Given the description of an element on the screen output the (x, y) to click on. 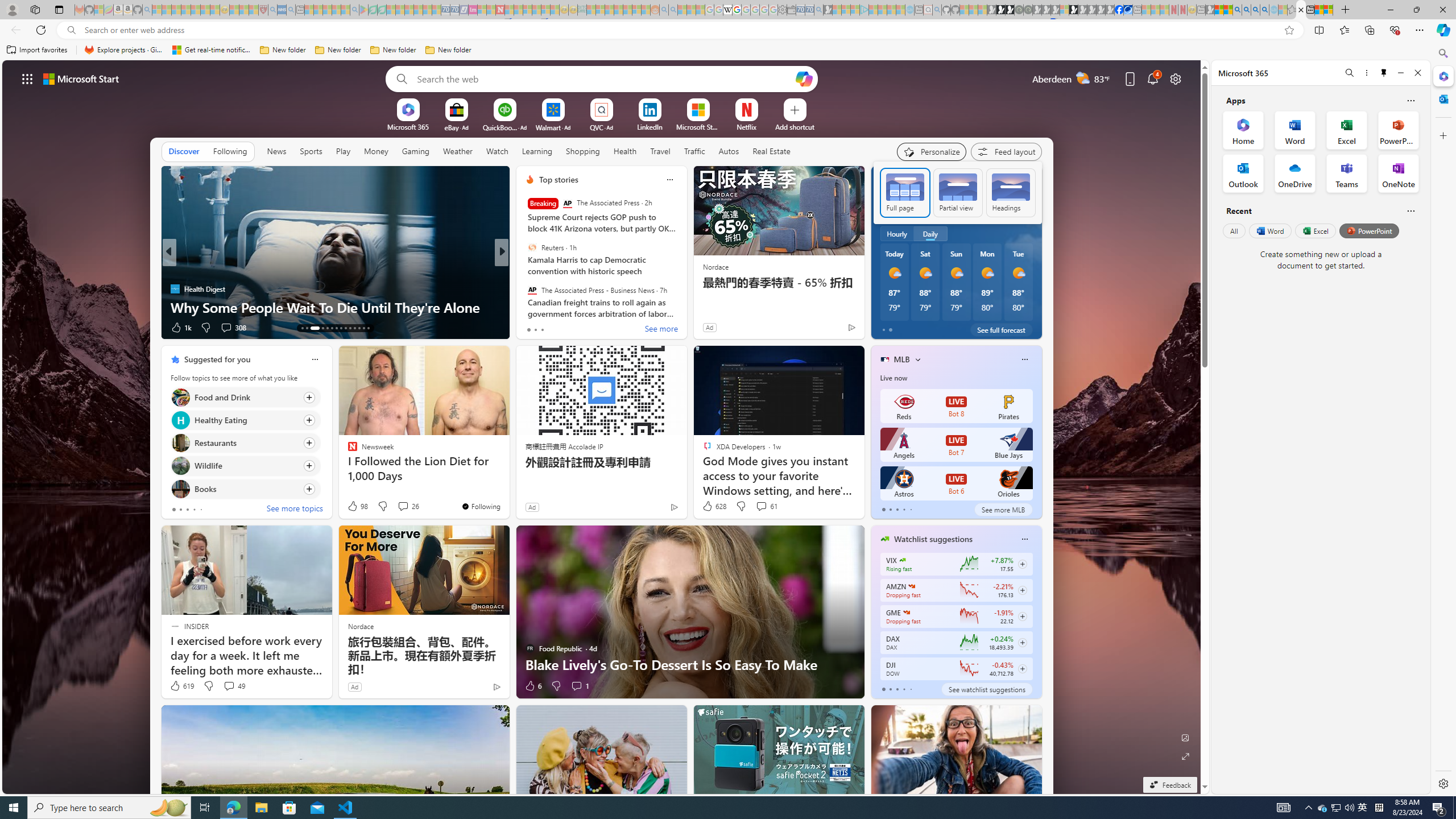
Microsoft-Report a Concern to Bing - Sleeping (98, 9)
Play (342, 151)
View comments 31 Comment (585, 327)
2009 Bing officially replaced Live Search on June 3 - Search (1246, 9)
Click to follow topic Restaurants (245, 442)
View comments 2 Comment (576, 327)
XDA Developers (524, 288)
The Best Time to Go to Bed According to Your Age (684, 307)
Feed settings (1005, 151)
Learning (536, 151)
